Given the description of an element on the screen output the (x, y) to click on. 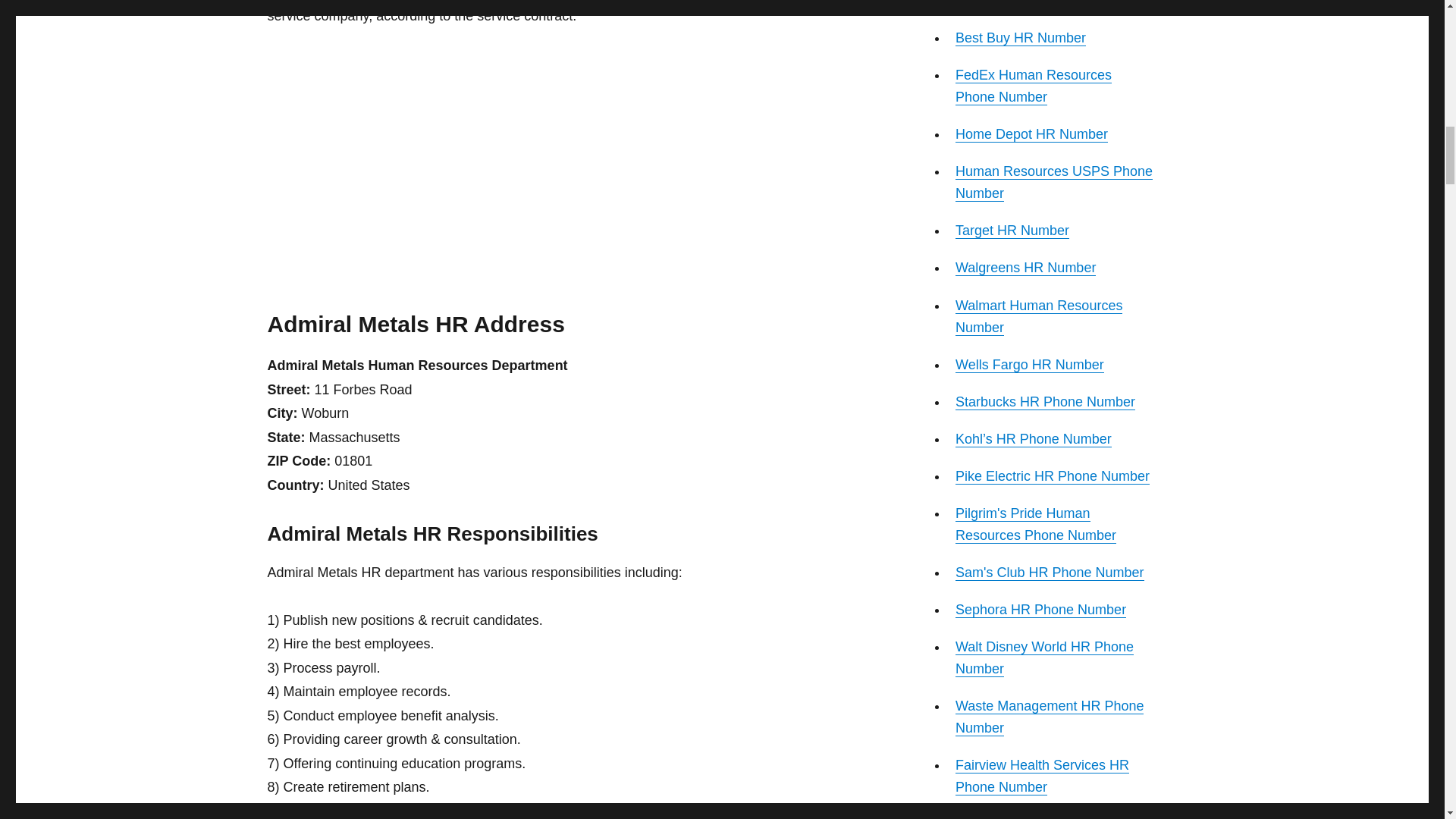
Walmart Human Resources Number (1038, 316)
Walgreens HR Number (1025, 267)
Pilgrim's Pride Human Resources Phone Number (1035, 524)
Starbucks HR Phone Number (1045, 401)
Target HR Number (1011, 230)
FedEx Human Resources Phone Number (1033, 85)
Wells Fargo HR Number (1029, 364)
Amazon HR Phone Number (1039, 4)
Human Resources USPS Phone Number (1054, 181)
Pike Electric HR Phone Number (1052, 476)
Best Buy HR Number (1020, 37)
Home Depot HR Number (1031, 133)
